Given the description of an element on the screen output the (x, y) to click on. 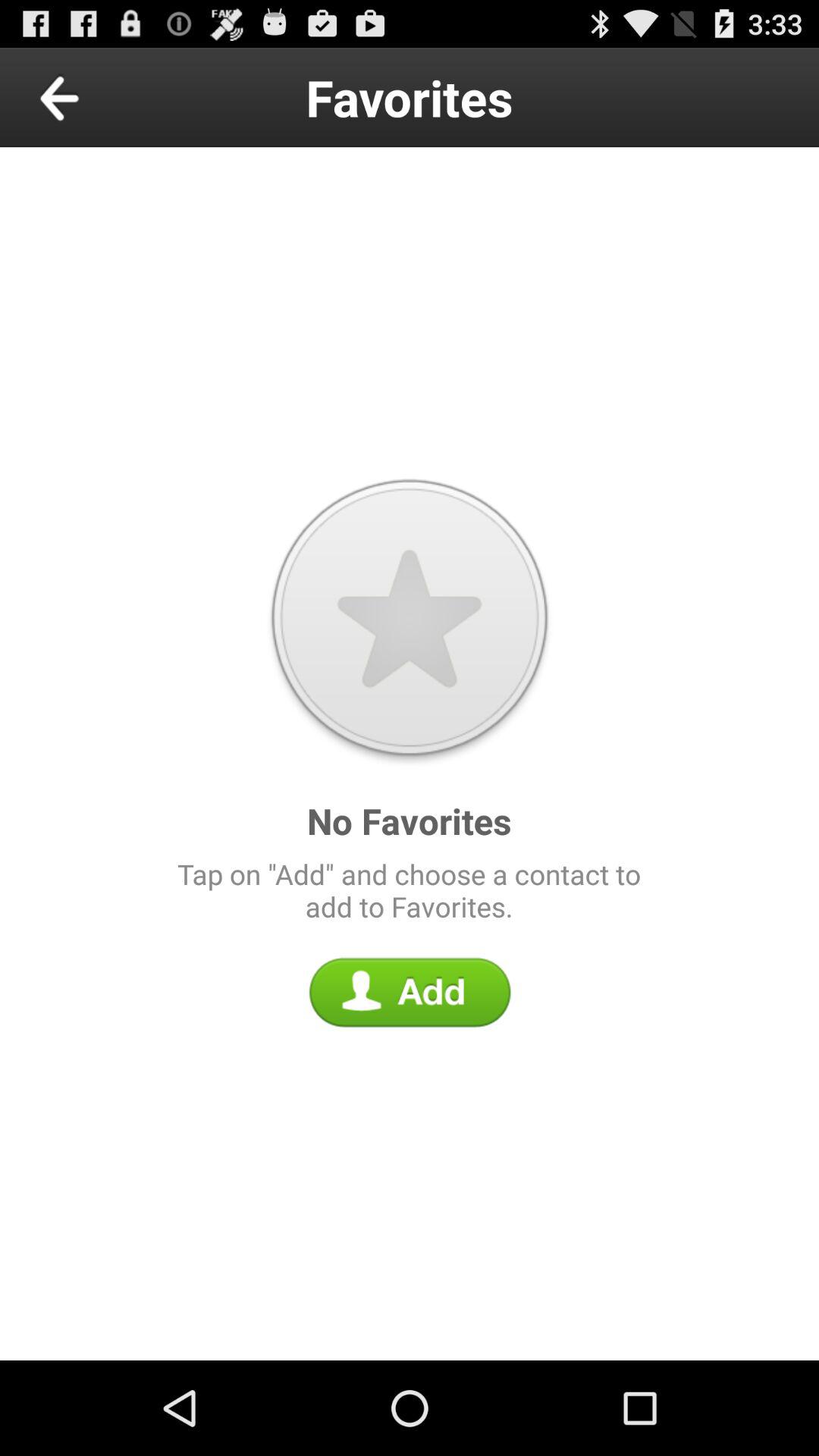
choose app to the left of the favorites (94, 97)
